Given the description of an element on the screen output the (x, y) to click on. 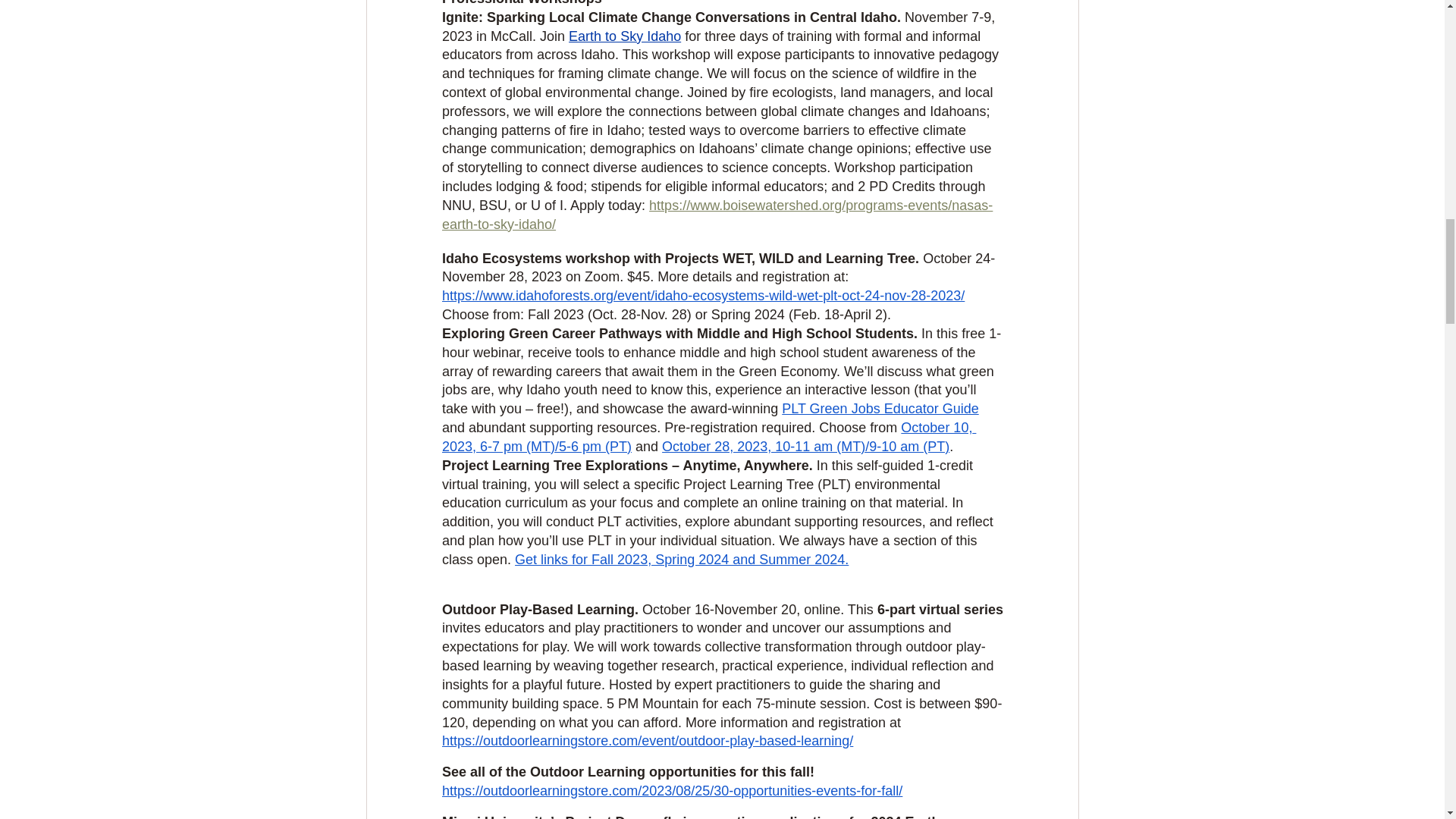
PLT Green Jobs Educator Guide (879, 408)
Get links for Fall 2023, Spring 2024 and Summer 2024. (681, 559)
Earth to Sky Idaho (625, 36)
